Given the description of an element on the screen output the (x, y) to click on. 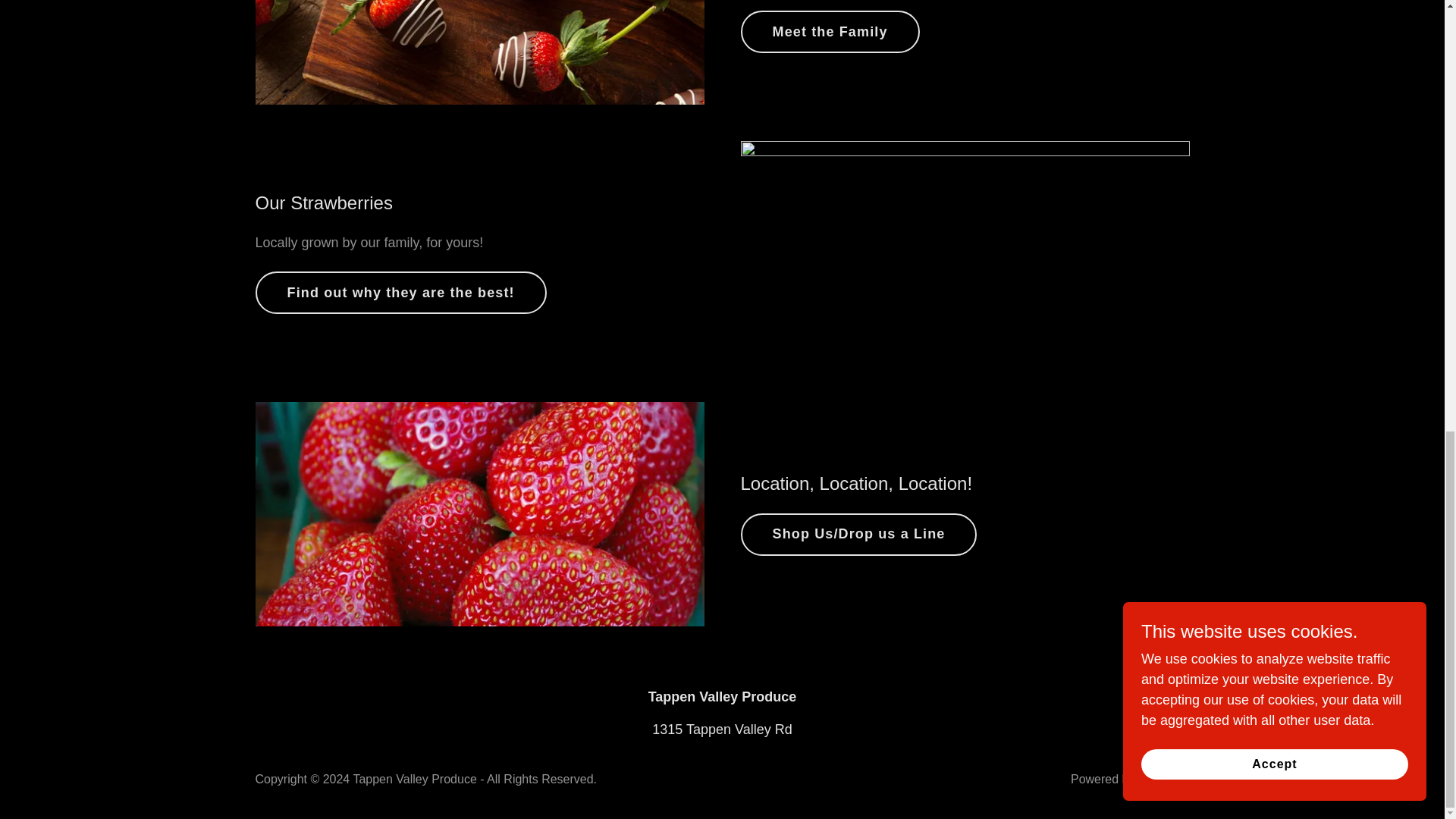
Meet the Family (828, 31)
GoDaddy (1163, 779)
Find out why they are the best! (400, 292)
